Given the description of an element on the screen output the (x, y) to click on. 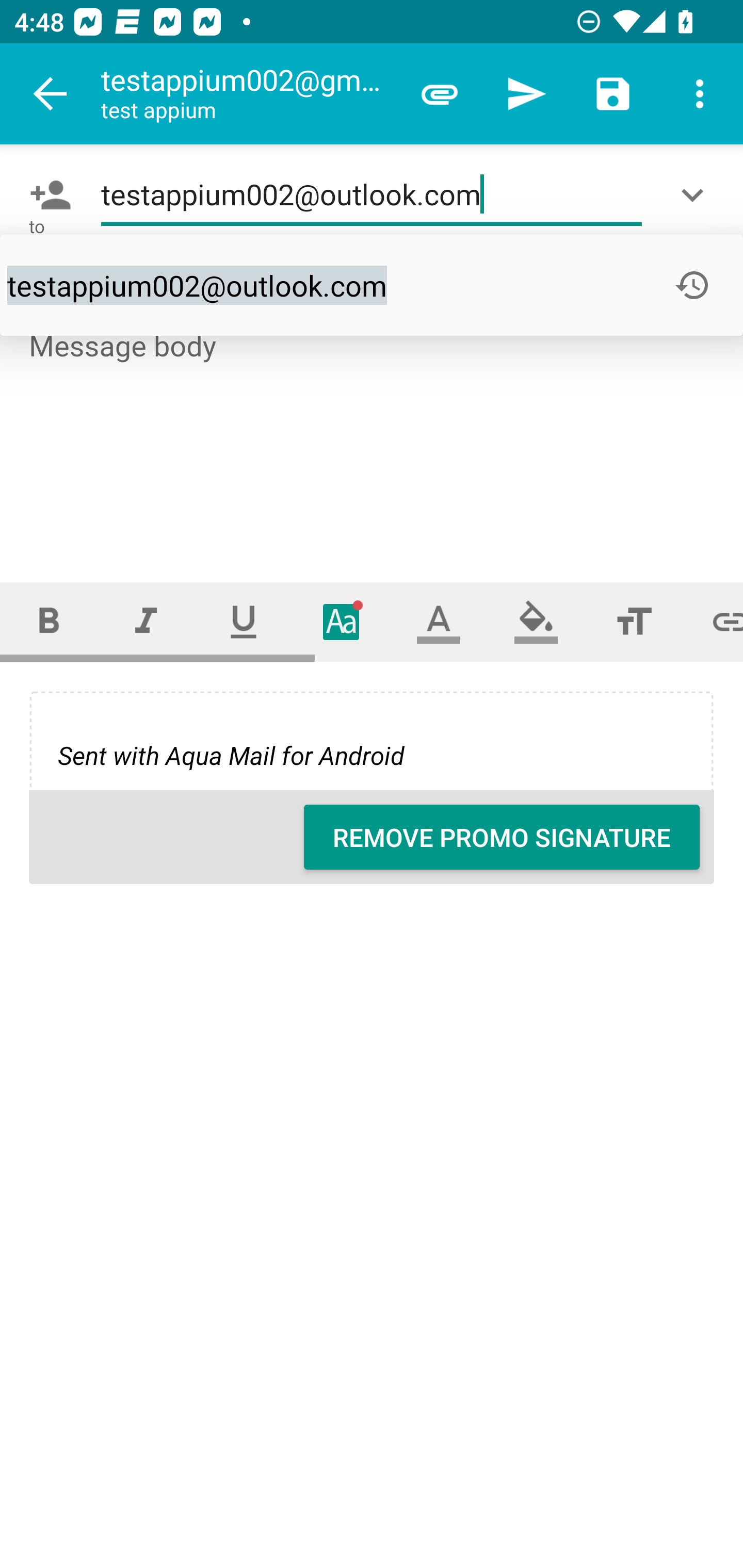
Navigate up (50, 93)
testappium002@gmail.com test appium (248, 93)
Attach (439, 93)
Send (525, 93)
Save (612, 93)
More options (699, 93)
Pick contact: To (46, 195)
Show/Add CC/BCC (696, 195)
testappium002@outlook.com (371, 195)
Message subject (371, 284)
Message body (372, 438)
Bold (48, 621)
Italic (145, 621)
Underline (243, 621)
Typeface (font) (341, 621)
Text color (438, 621)
Fill color (536, 621)
Font size (633, 621)
Set link (712, 621)
REMOVE PROMO SIGNATURE (501, 837)
